Given the description of an element on the screen output the (x, y) to click on. 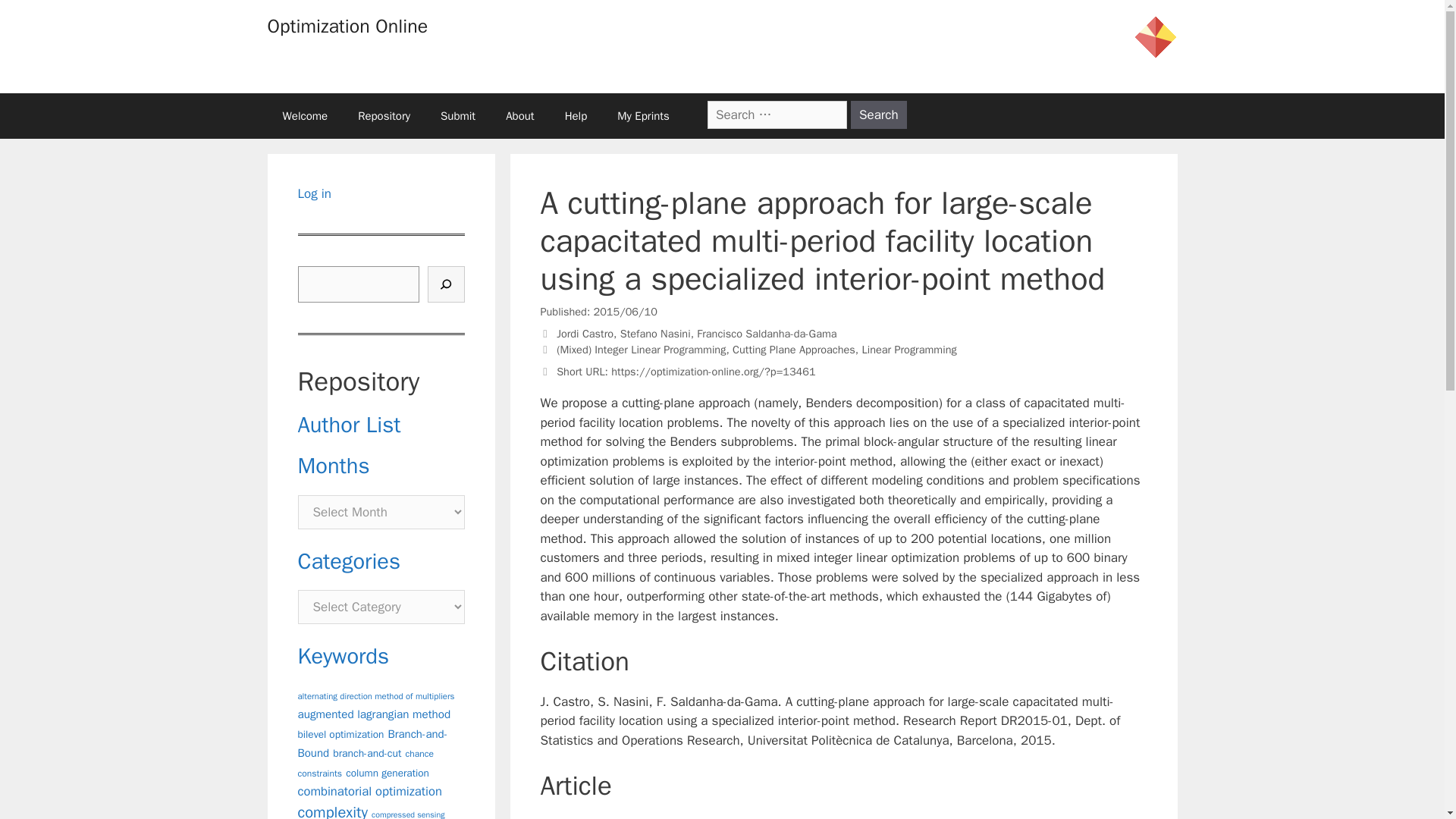
Jordi Castro (584, 333)
column generation (387, 772)
alternating direction method of multipliers (375, 696)
bilevel optimization (340, 734)
Branch-and-Bound (371, 743)
Search (878, 113)
Months (333, 465)
Stefano Nasini (655, 333)
augmented lagrangian method (373, 713)
combinatorial optimization (369, 790)
Search (878, 113)
Log in (314, 192)
chance constraints (364, 763)
Help (576, 115)
Welcome (304, 115)
